Given the description of an element on the screen output the (x, y) to click on. 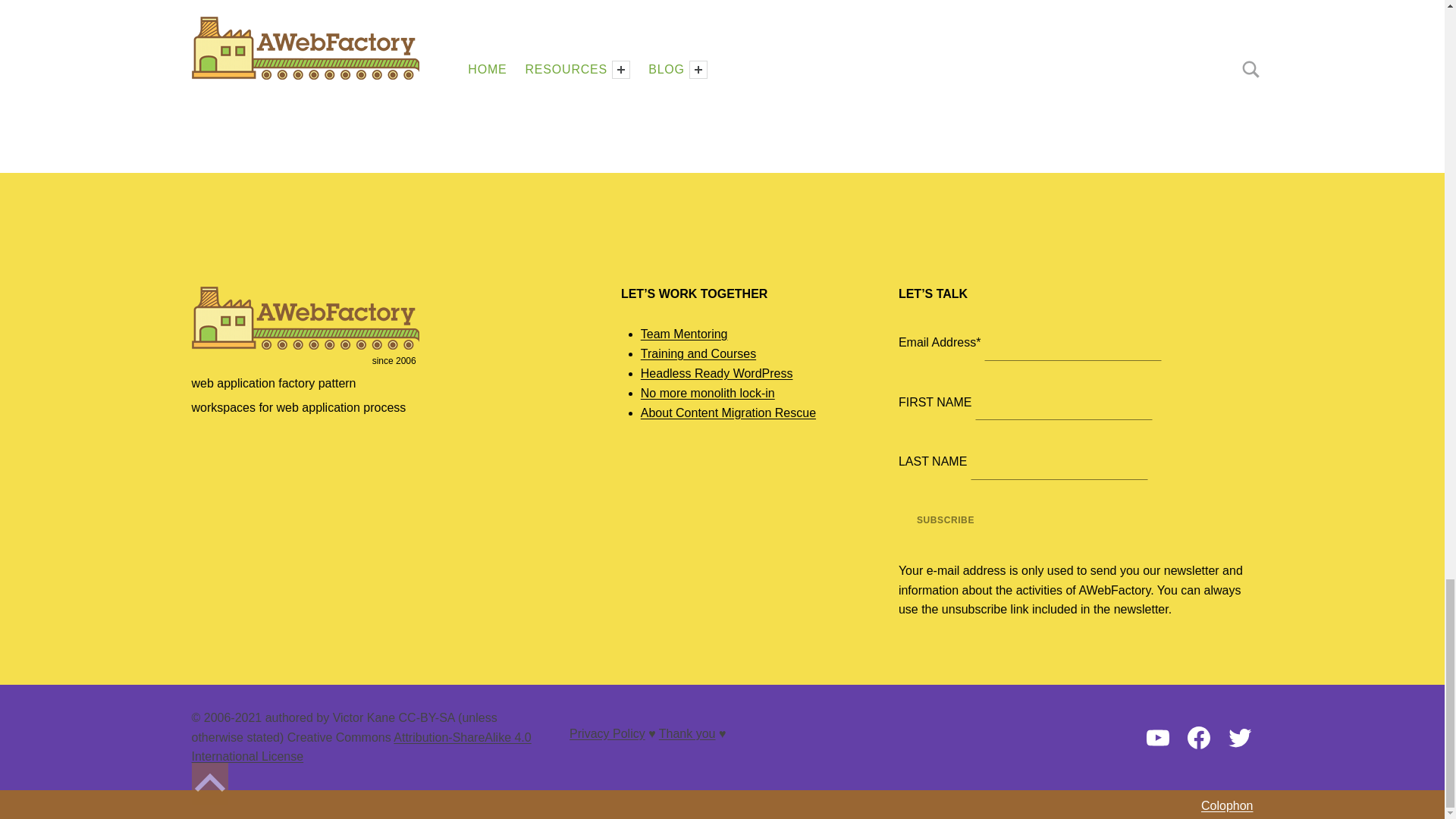
Headless Ready WordPress (716, 373)
Subscribe (945, 519)
Training and Courses (697, 353)
Team Mentoring (684, 333)
About Content Migration Rescue (727, 412)
No more monolith lock-in (707, 392)
Attribution-ShareAlike 4.0 International License (360, 747)
Subscribe (945, 519)
